Given the description of an element on the screen output the (x, y) to click on. 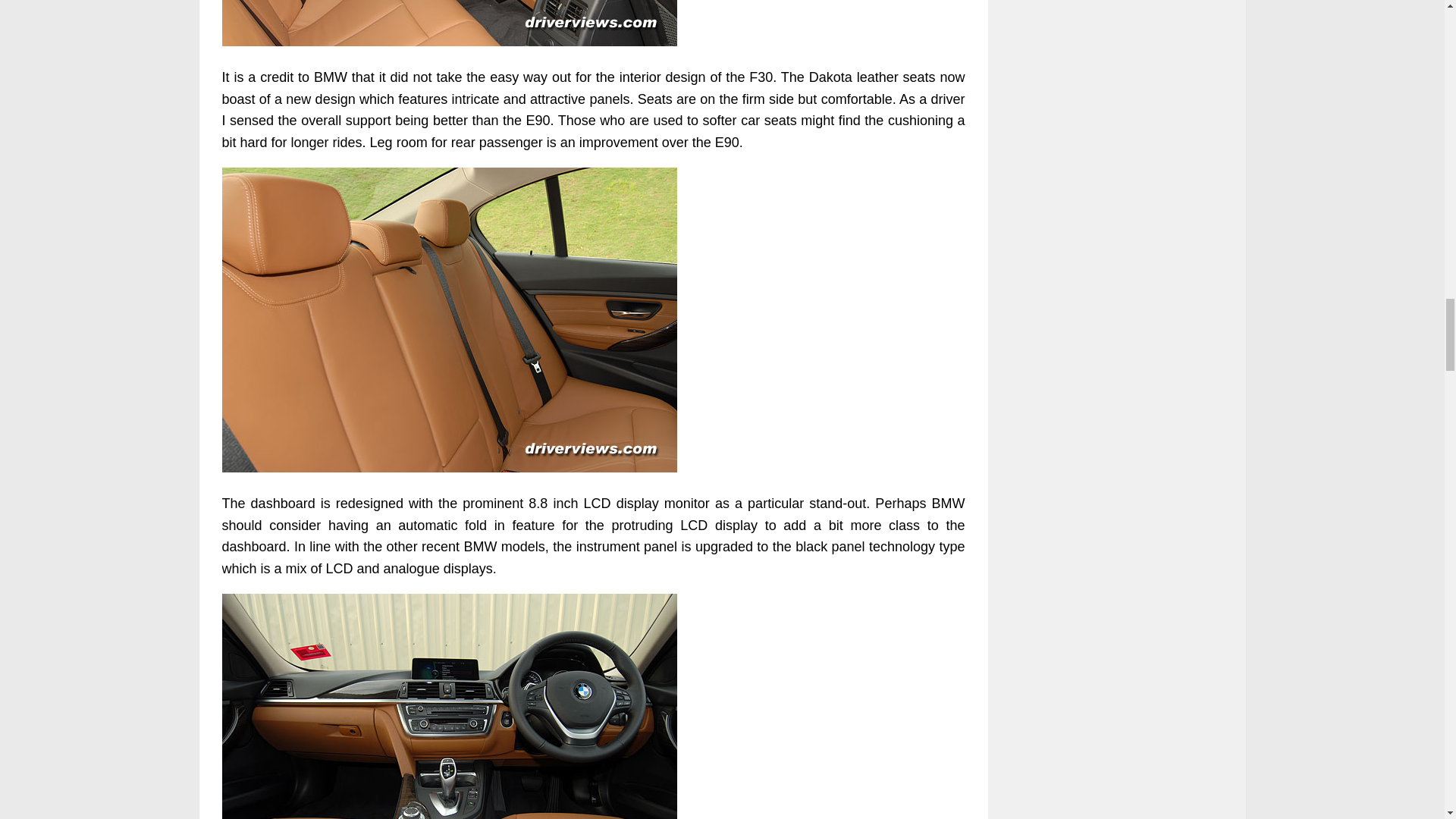
BMW 328i (449, 706)
BMW 328i (449, 22)
